Given the description of an element on the screen output the (x, y) to click on. 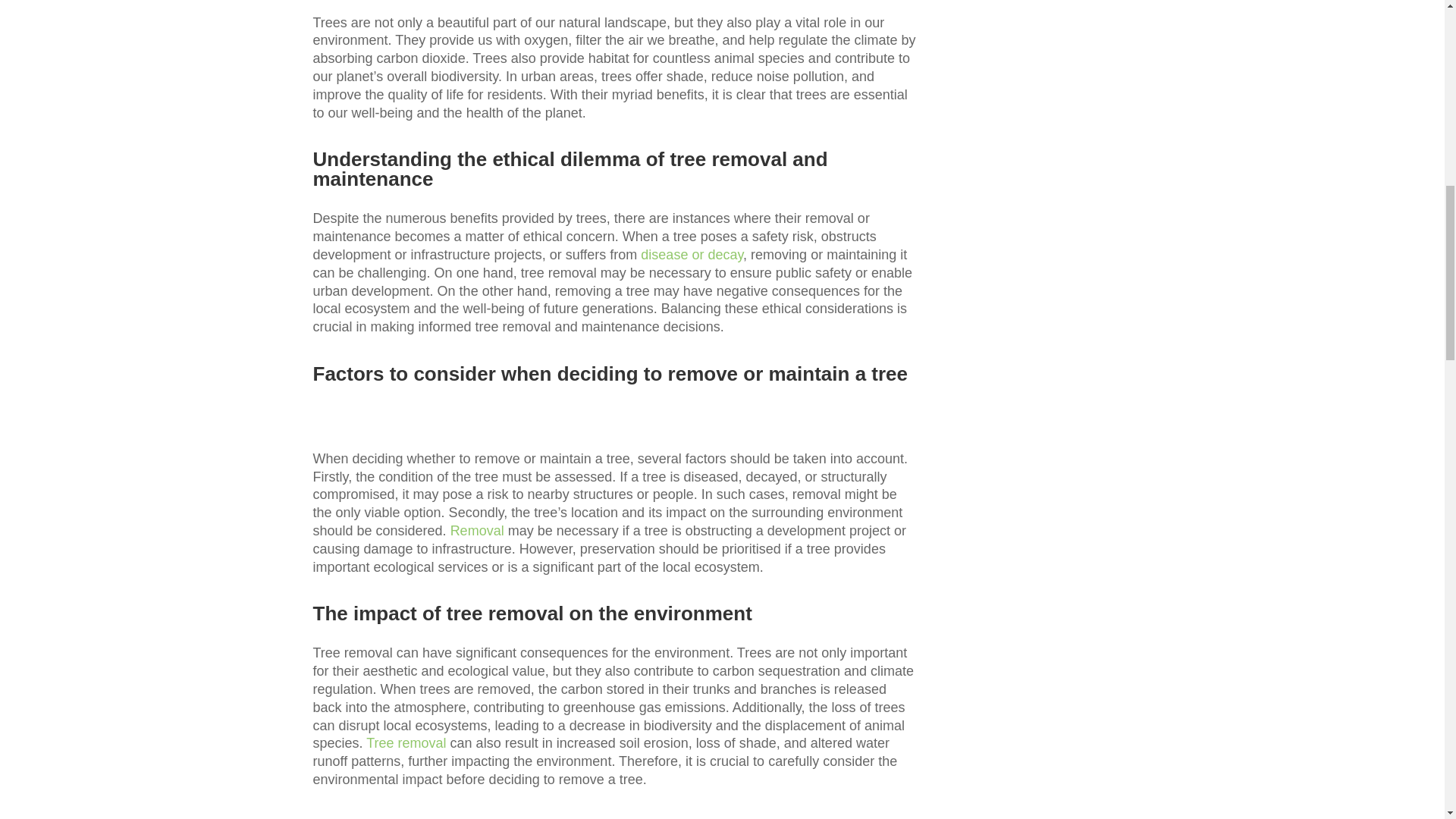
Removal (476, 530)
disease or decay (691, 254)
Tree removal (405, 743)
